Given the description of an element on the screen output the (x, y) to click on. 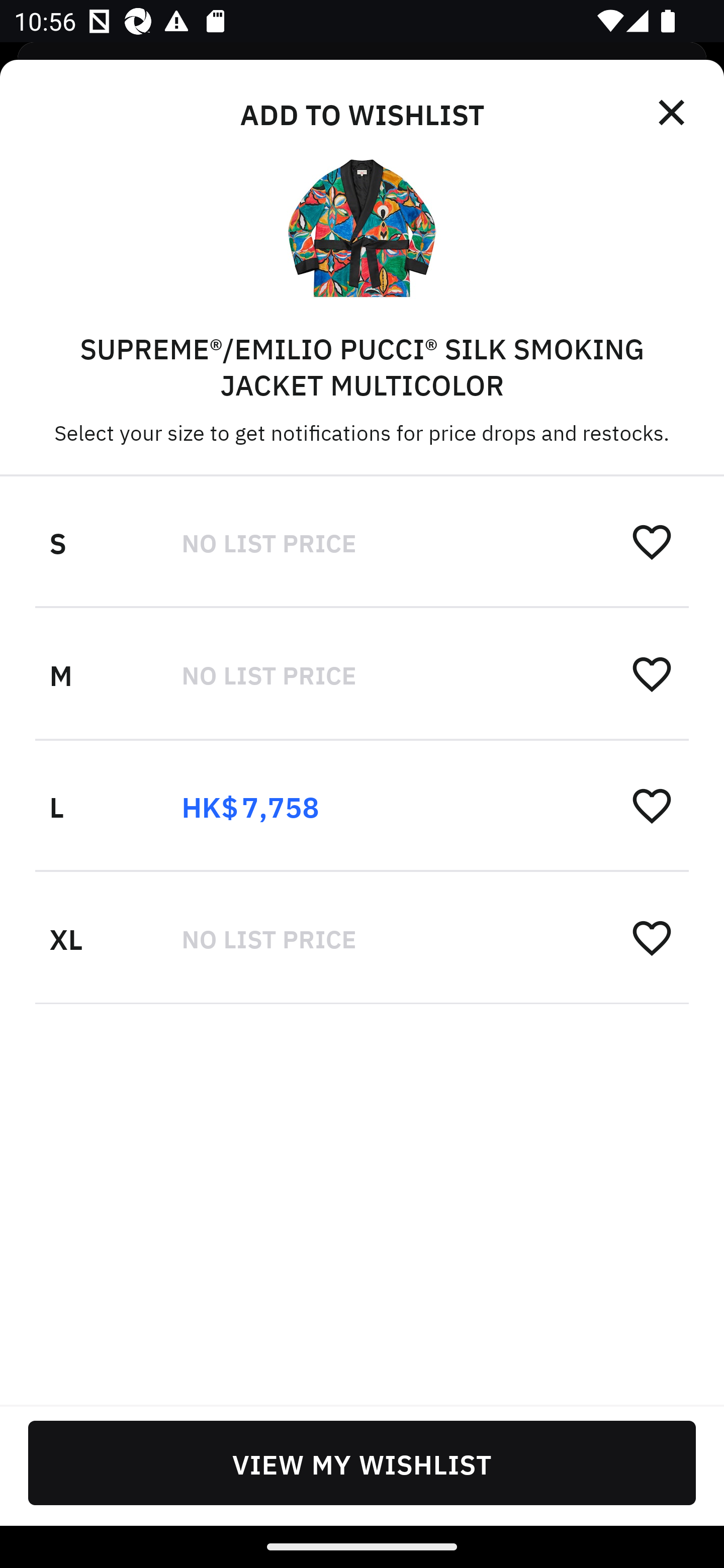
 (672, 112)
󰋕 (651, 541)
󰋕 (651, 673)
󰋕 (651, 804)
󰋕 (651, 936)
VIEW MY WISHLIST (361, 1462)
